Given the description of an element on the screen output the (x, y) to click on. 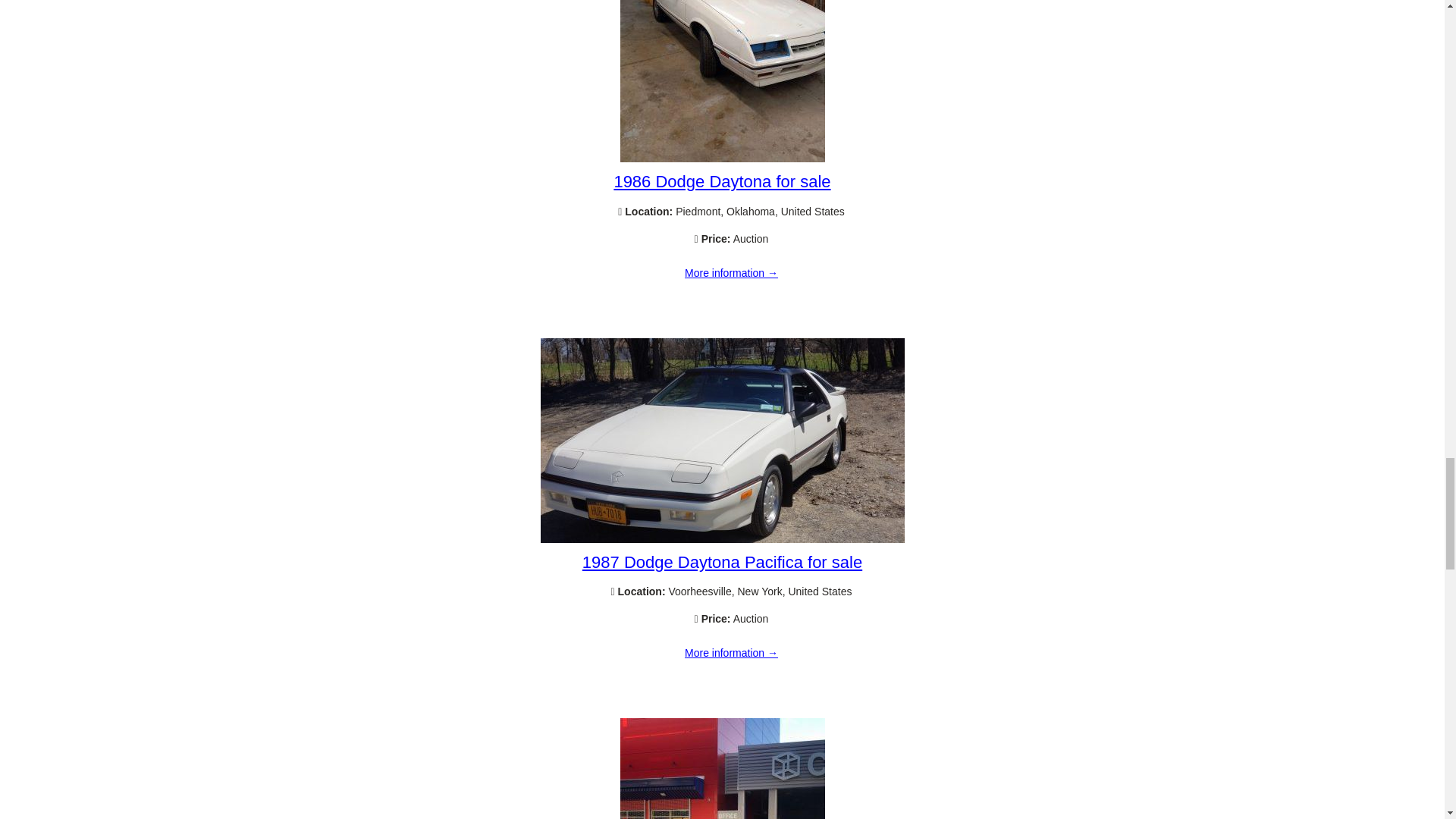
1986 Dodge Daytona for sale (722, 158)
1986 Dodge Daytona for sale (731, 273)
1987 Dodge Daytona Pacifica for sale (731, 653)
1987 Dodge Daytona Pacifica for sale (721, 561)
1987 Dodge Daytona Pacifica for sale (722, 539)
1986 Dodge Daytona for sale (720, 180)
